Given the description of an element on the screen output the (x, y) to click on. 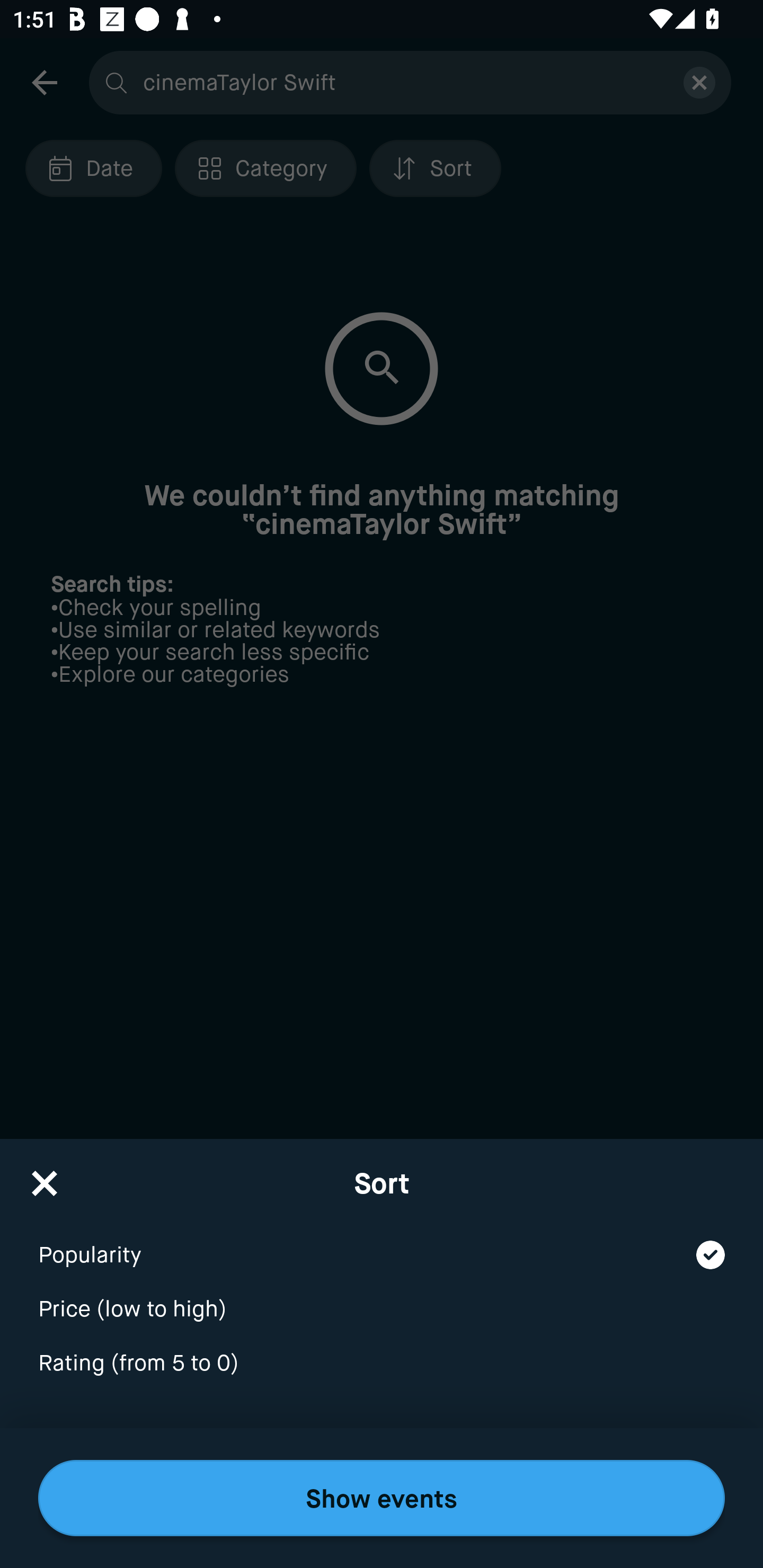
CloseButton (44, 1177)
Popularity Selected Icon (381, 1243)
Price (low to high) (381, 1297)
Rating (from 5 to 0) (381, 1362)
Show events (381, 1497)
